Given the description of an element on the screen output the (x, y) to click on. 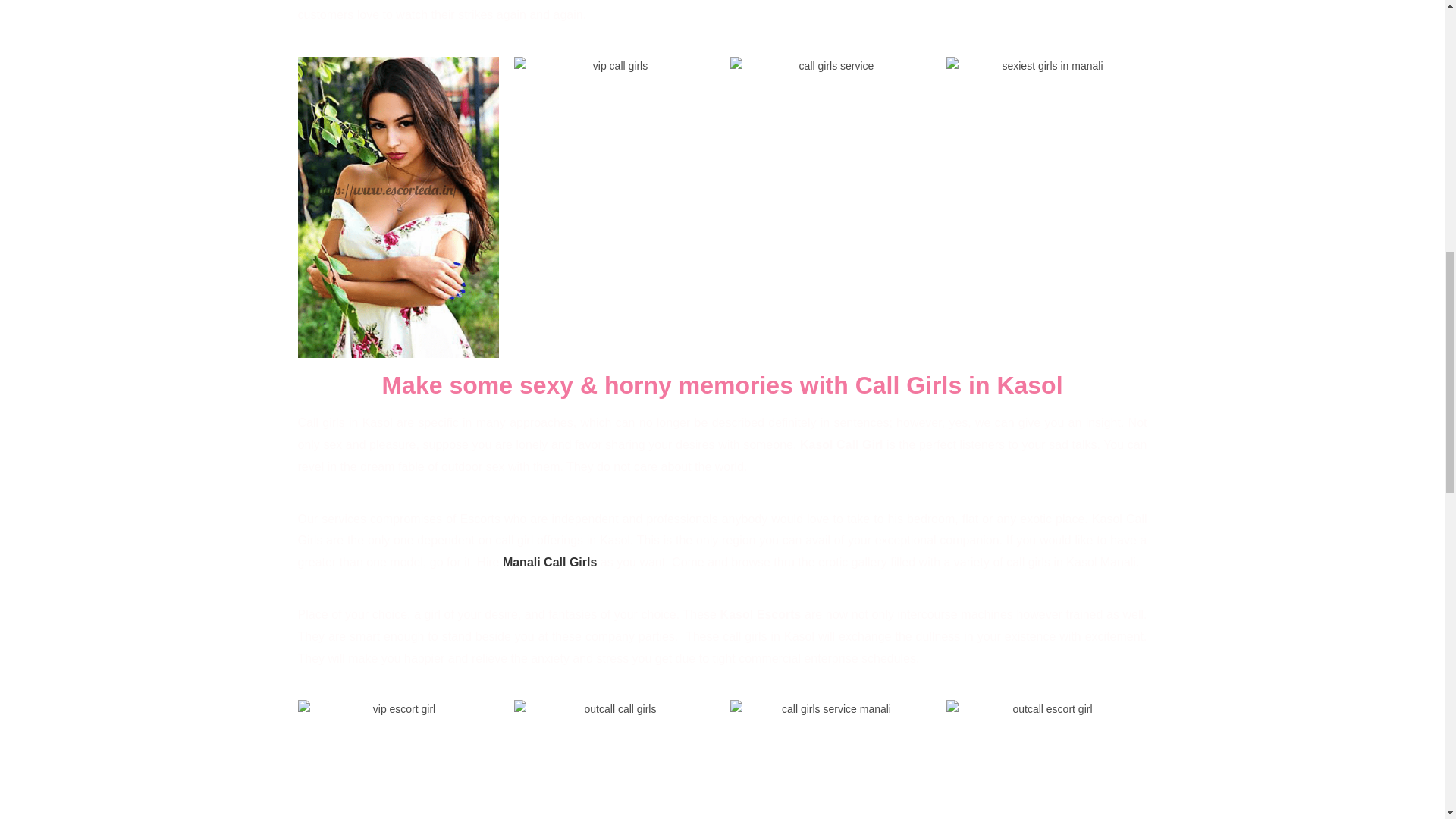
Manali Call Girls (549, 562)
